Given the description of an element on the screen output the (x, y) to click on. 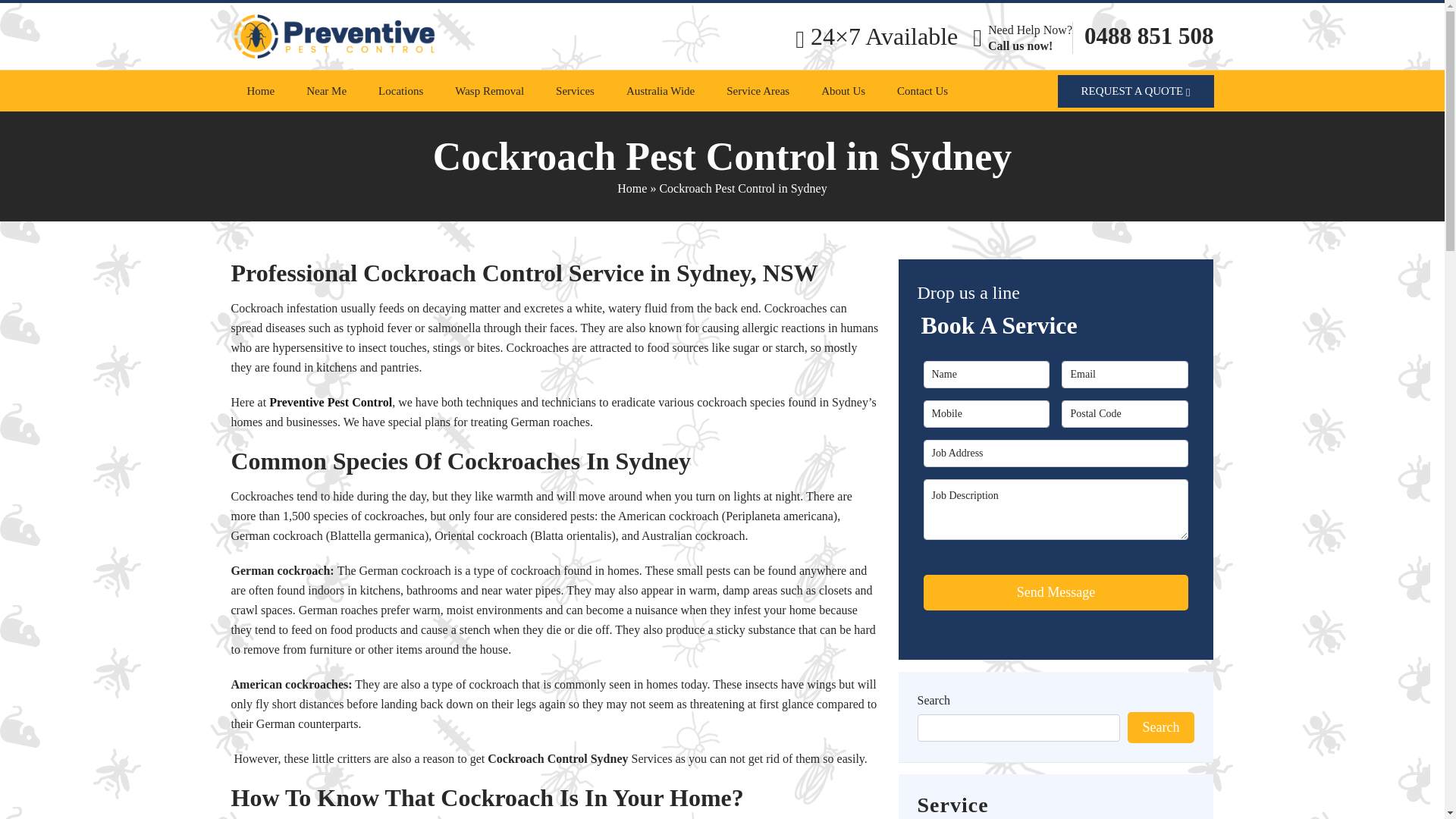
Services (575, 90)
Home (260, 90)
Australia Wide (660, 90)
Near Me (326, 90)
Service Areas (758, 90)
Wasp Removal (488, 90)
Send Message (1056, 592)
0488 851 508 (1149, 36)
Locations (400, 90)
